Given the description of an element on the screen output the (x, y) to click on. 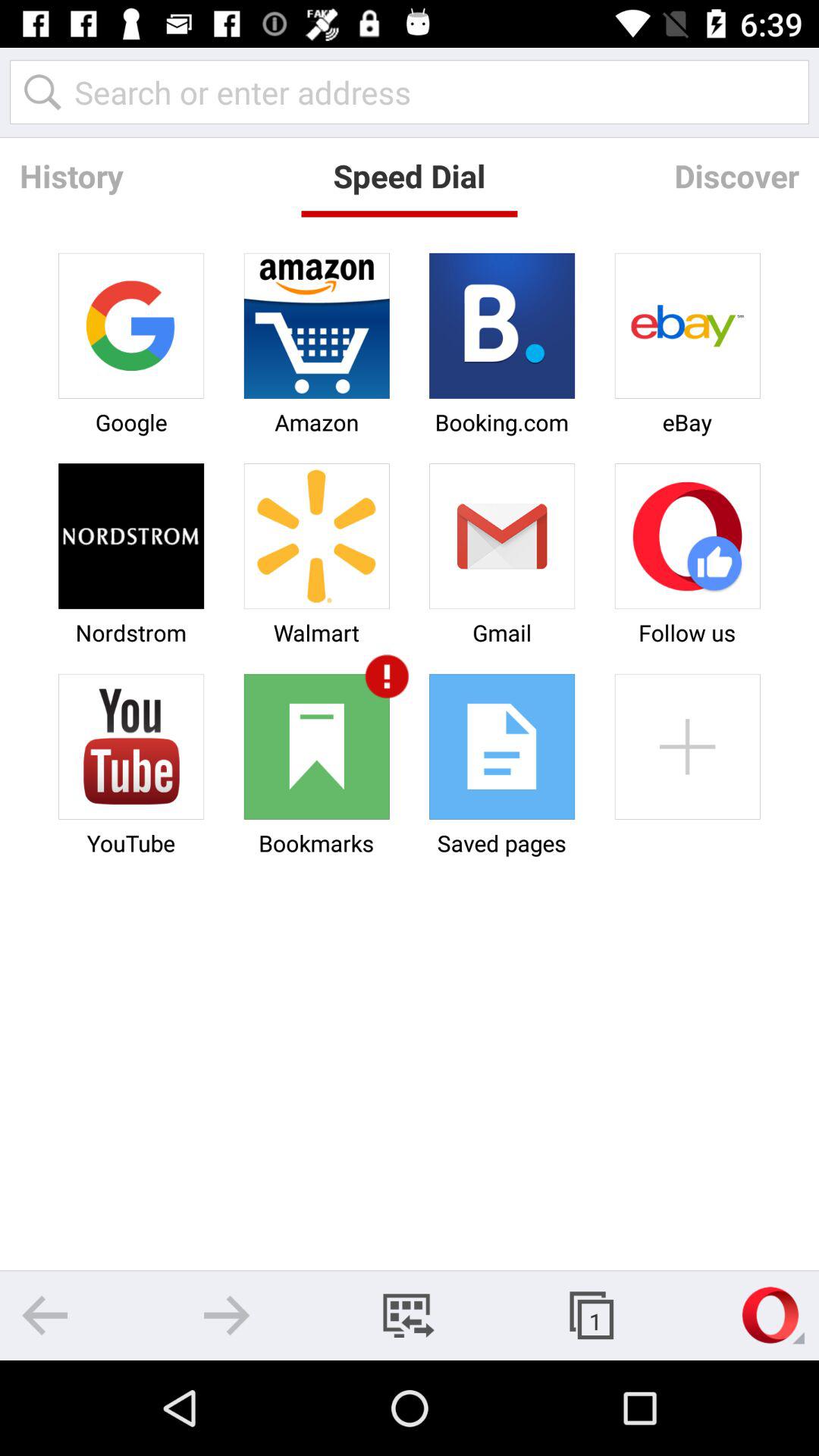
turn on the icon next to speed dial item (71, 175)
